Given the description of an element on the screen output the (x, y) to click on. 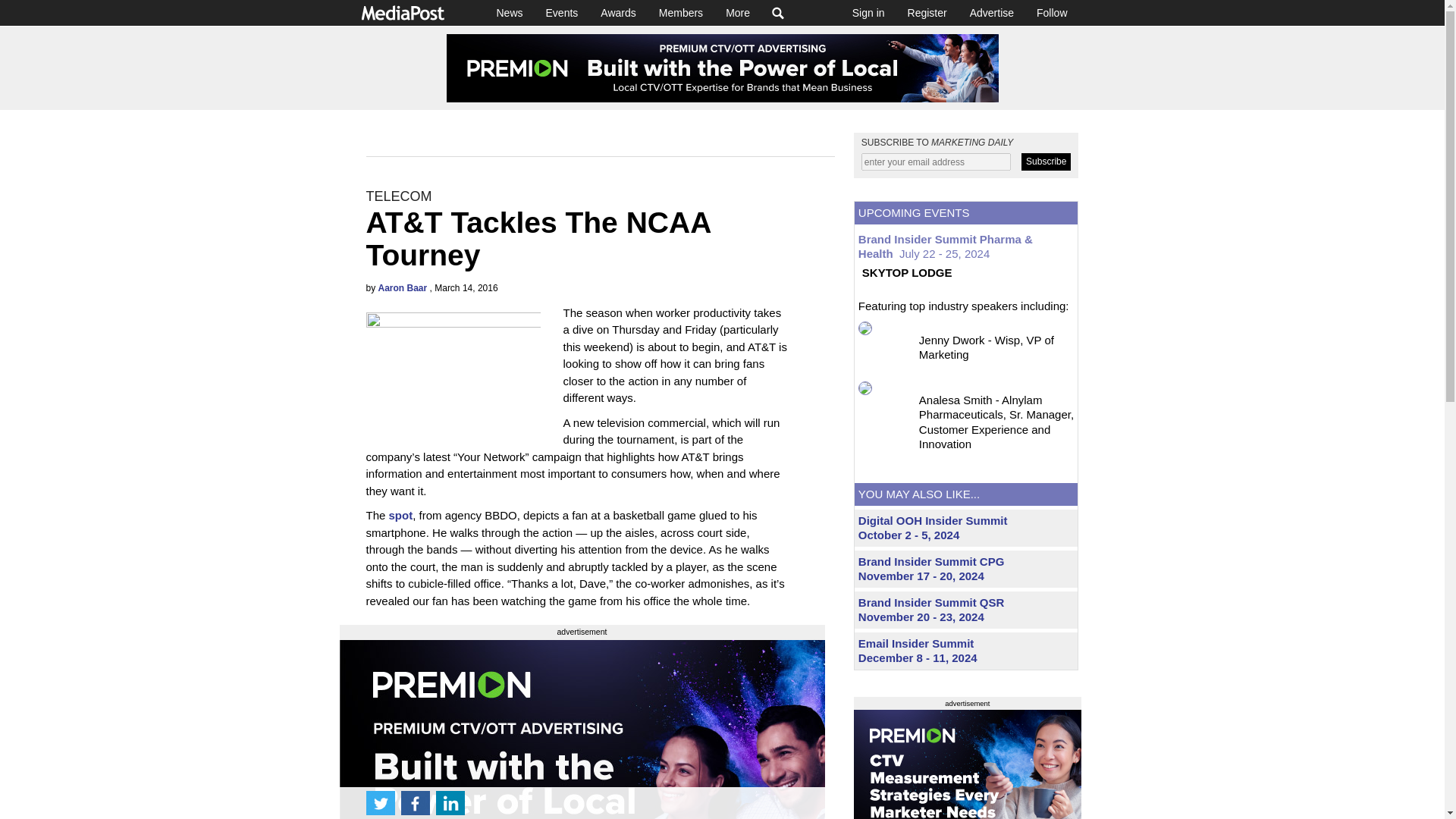
Share on Twitter (379, 802)
News (509, 12)
Share on LinkedIn (449, 802)
Subscribe (1046, 161)
Share on Facebook (414, 802)
